Given the description of an element on the screen output the (x, y) to click on. 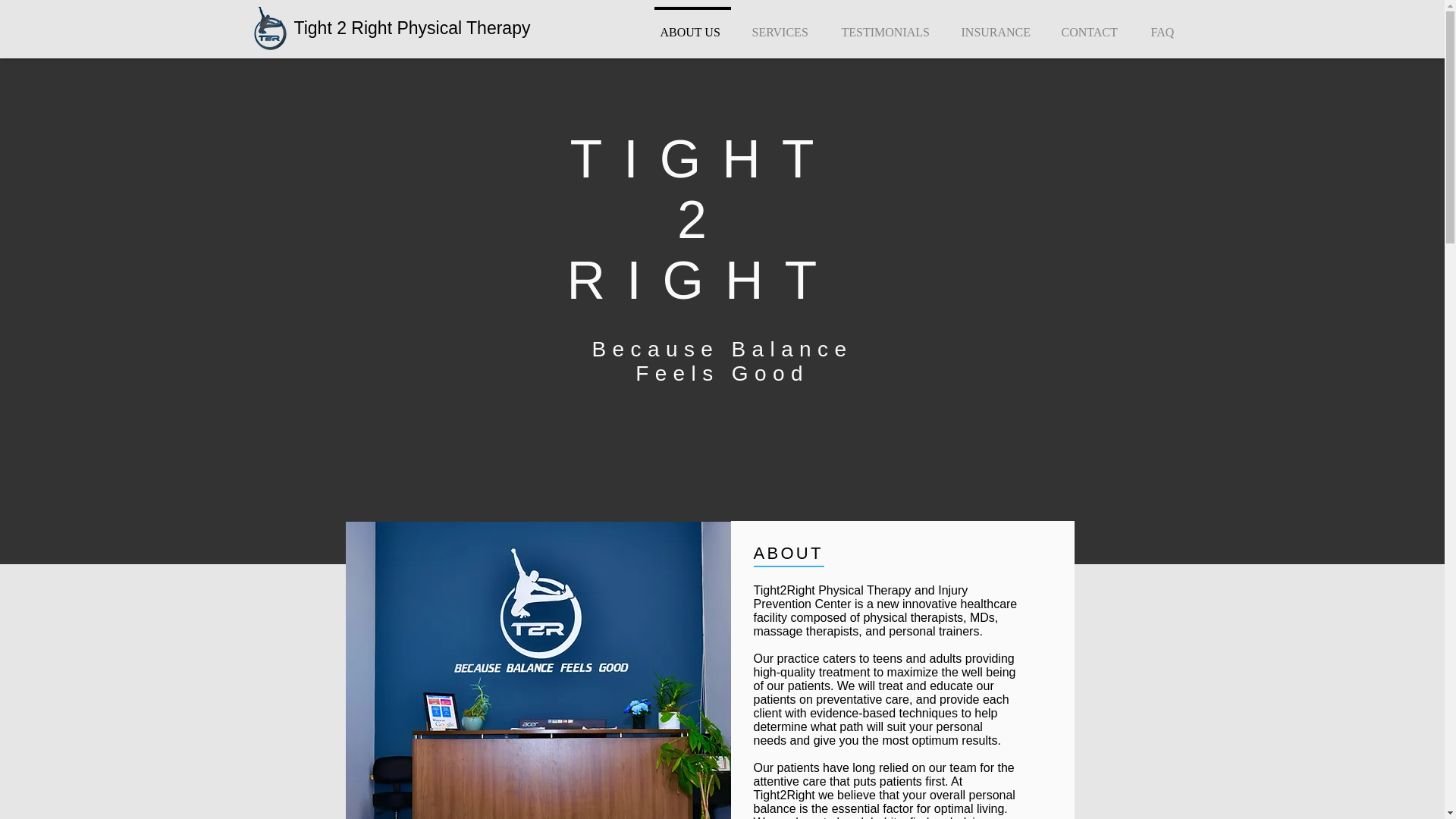
TESTIMONIALS (887, 25)
SERVICES (783, 25)
CONTACT (1092, 25)
INSURANCE (997, 25)
FAQ (1164, 25)
ABOUT US (692, 25)
Tight 2 Right Physical Therapy (412, 27)
